Given the description of an element on the screen output the (x, y) to click on. 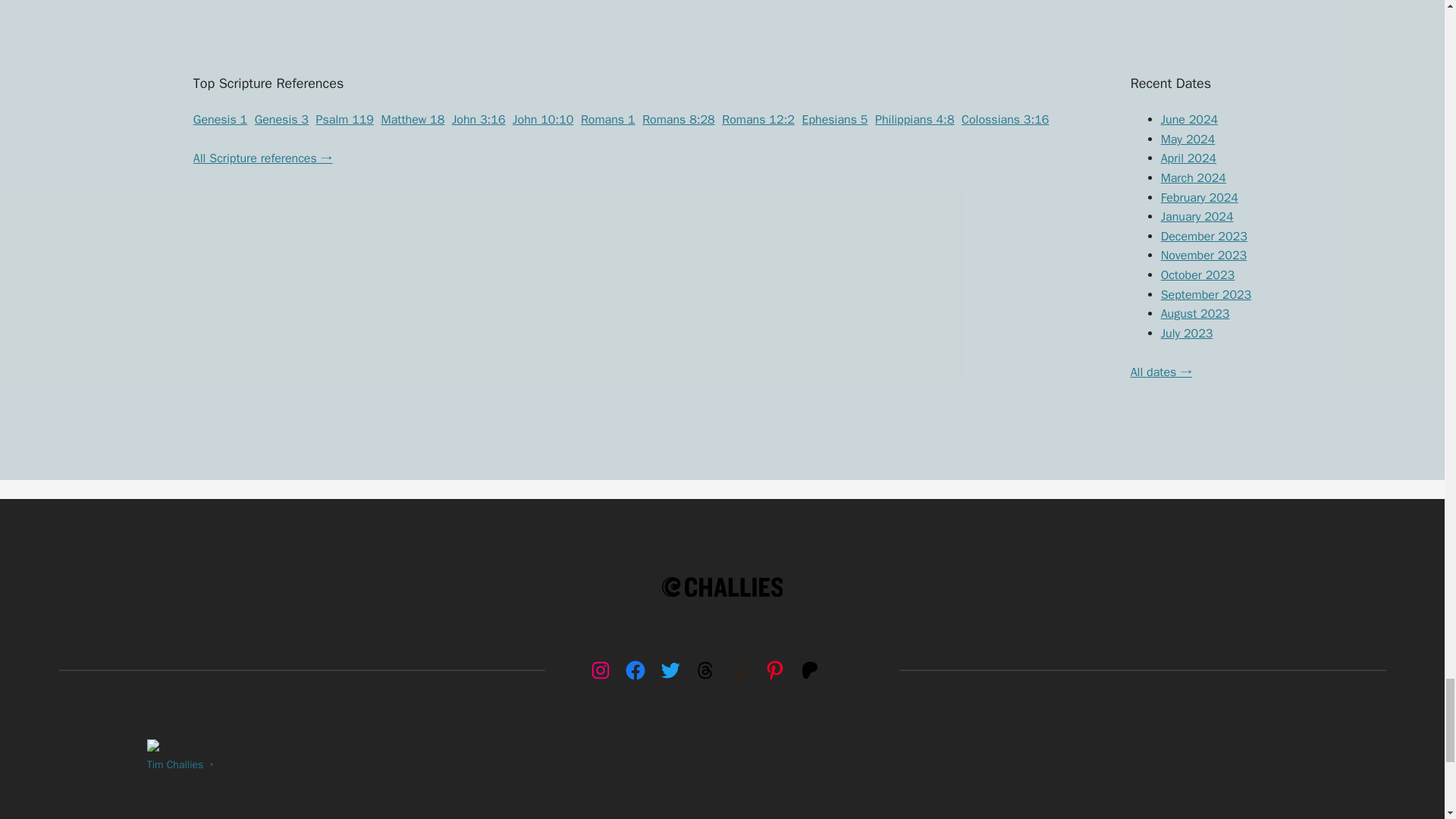
Challies logo (722, 587)
